Given the description of an element on the screen output the (x, y) to click on. 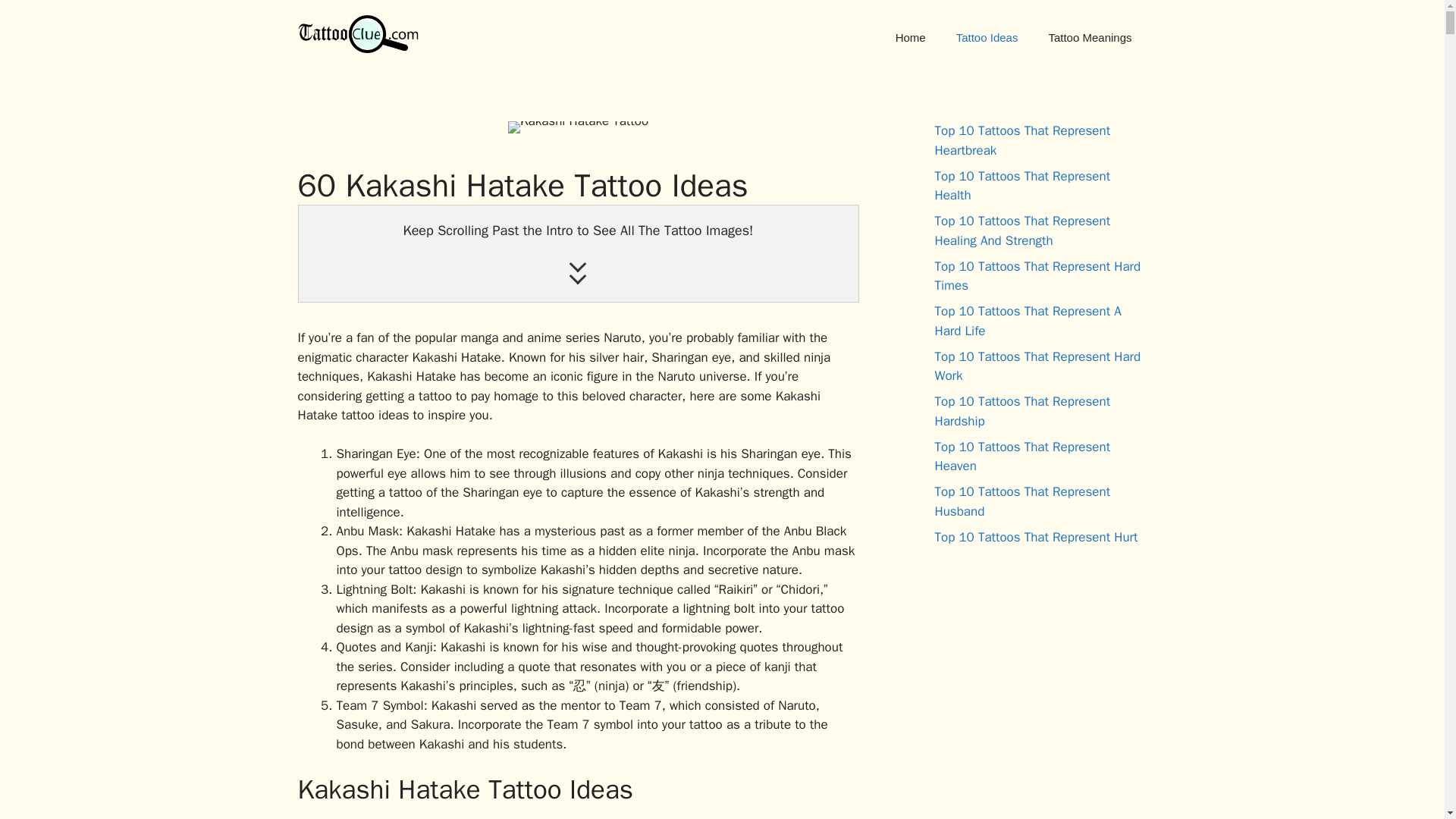
Top 10 Tattoos That Represent Husband (1021, 501)
Top 10 Tattoos That Represent A Hard Life (1027, 321)
Tattoo Meanings (1089, 37)
Top 10 Tattoos That Represent Heartbreak (1021, 140)
Top 10 Tattoos That Represent Hard Work (1037, 366)
Top 10 Tattoos That Represent Hurt (1035, 537)
Keep Scrolling Past the Intro to See All The Tattoo Images! (578, 253)
Top 10 Tattoos That Represent Health (1021, 185)
Top 10 Tattoos That Represent Hard Times (1037, 275)
Top 10 Tattoos That Represent Hardship (1021, 411)
Top 10 Tattoos That Represent Healing And Strength (1021, 230)
Home (910, 37)
Tattoo Ideas (986, 37)
Top 10 Tattoos That Represent Heaven (1021, 456)
